Given the description of an element on the screen output the (x, y) to click on. 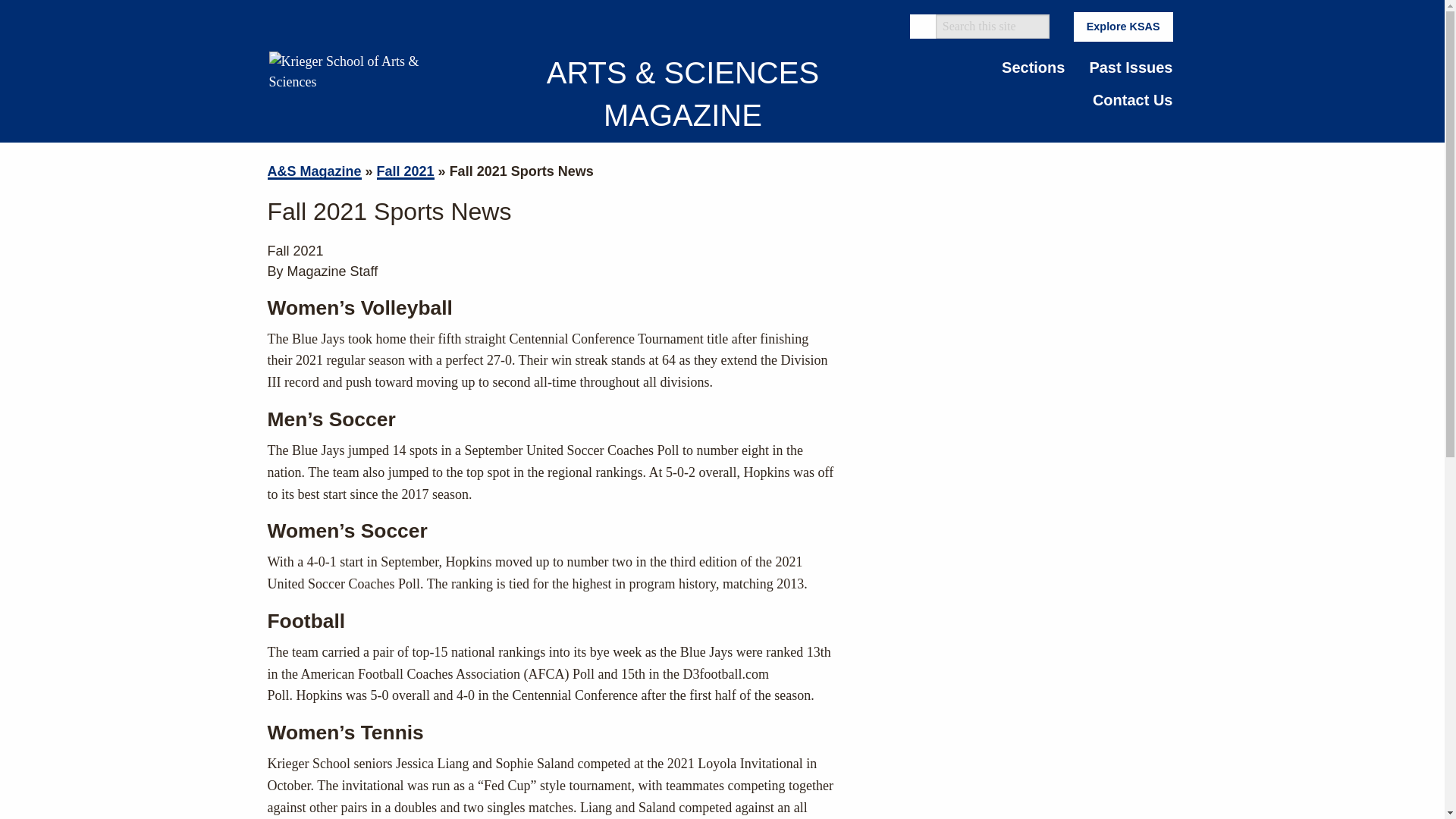
Sections (1033, 67)
Past Issues (1131, 67)
Contact Us (1132, 99)
Explore KSAS (1123, 26)
Fall 2021 (405, 171)
